Given the description of an element on the screen output the (x, y) to click on. 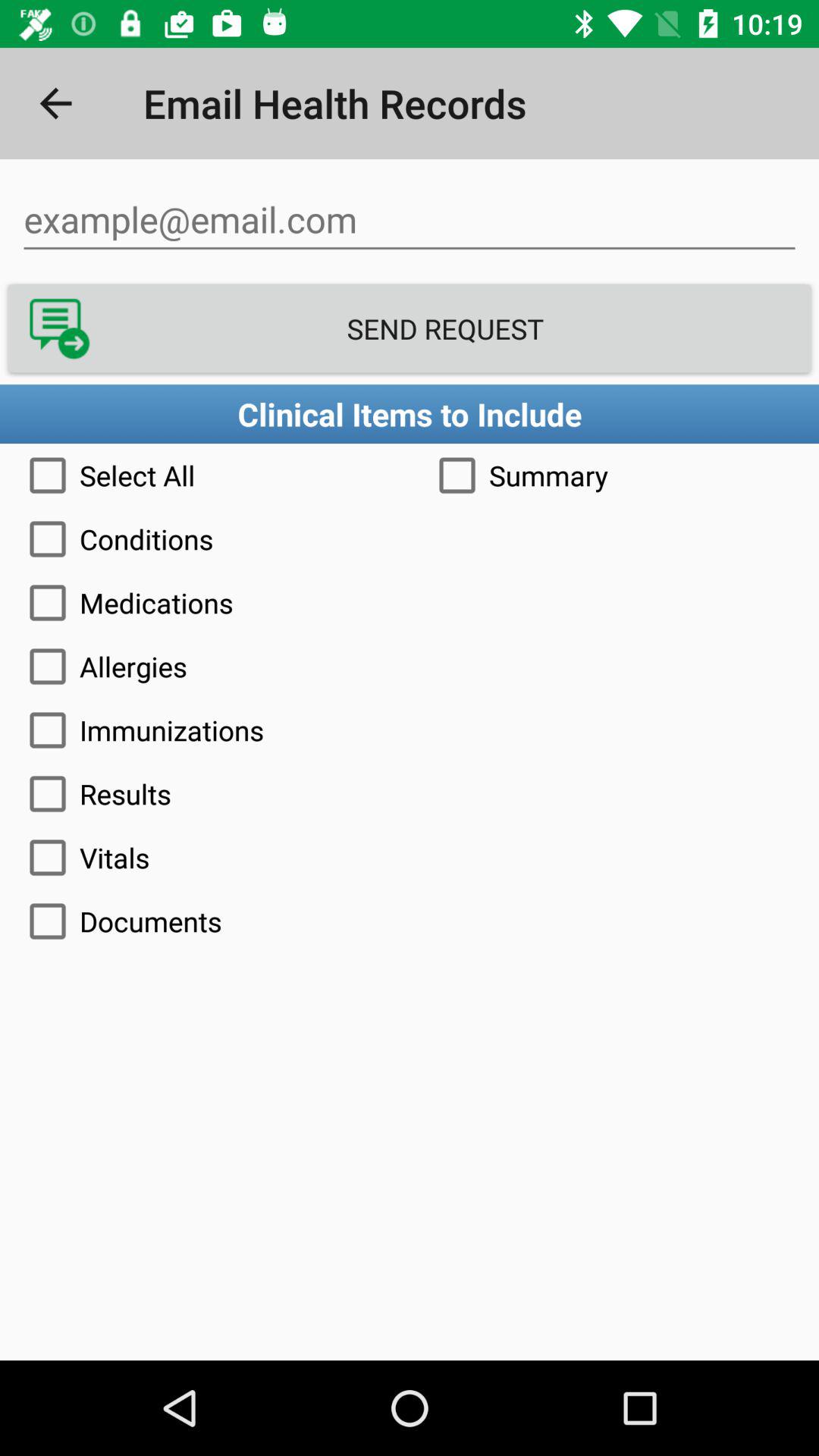
flip until the immunizations icon (409, 730)
